Given the description of an element on the screen output the (x, y) to click on. 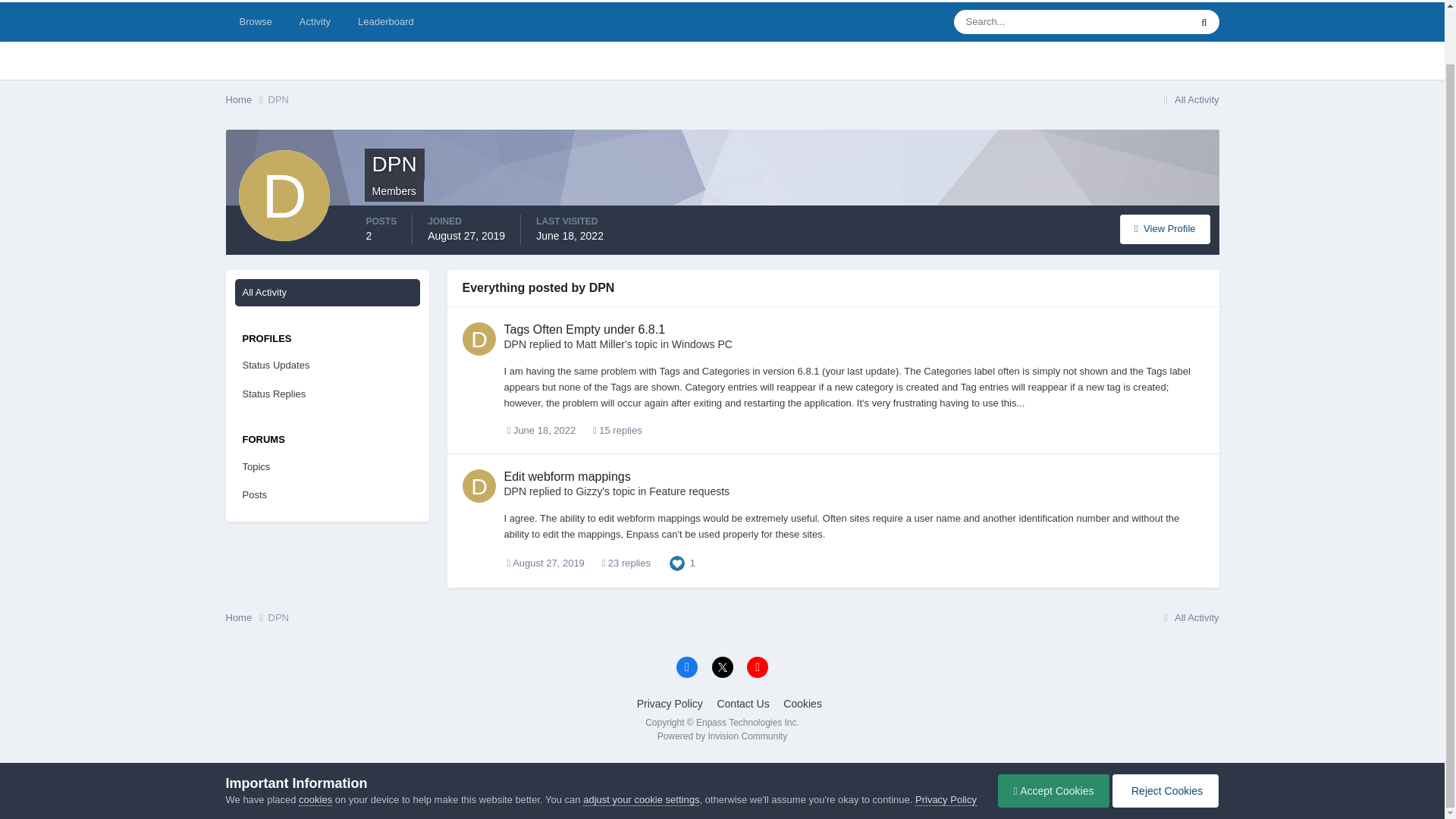
DPN's Profile (1164, 229)
All Activity (1188, 99)
 View Profile (1164, 229)
Posts (327, 494)
Status Updates (327, 365)
Home (246, 99)
Go to Matt Miller's profile (599, 344)
DPN (277, 99)
Tags Often Empty under 6.8.1 (584, 328)
Home (246, 99)
Like (676, 562)
Activity (314, 21)
All Activity (327, 292)
Go to DPN's profile (479, 485)
Leaderboard (385, 21)
